Given the description of an element on the screen output the (x, y) to click on. 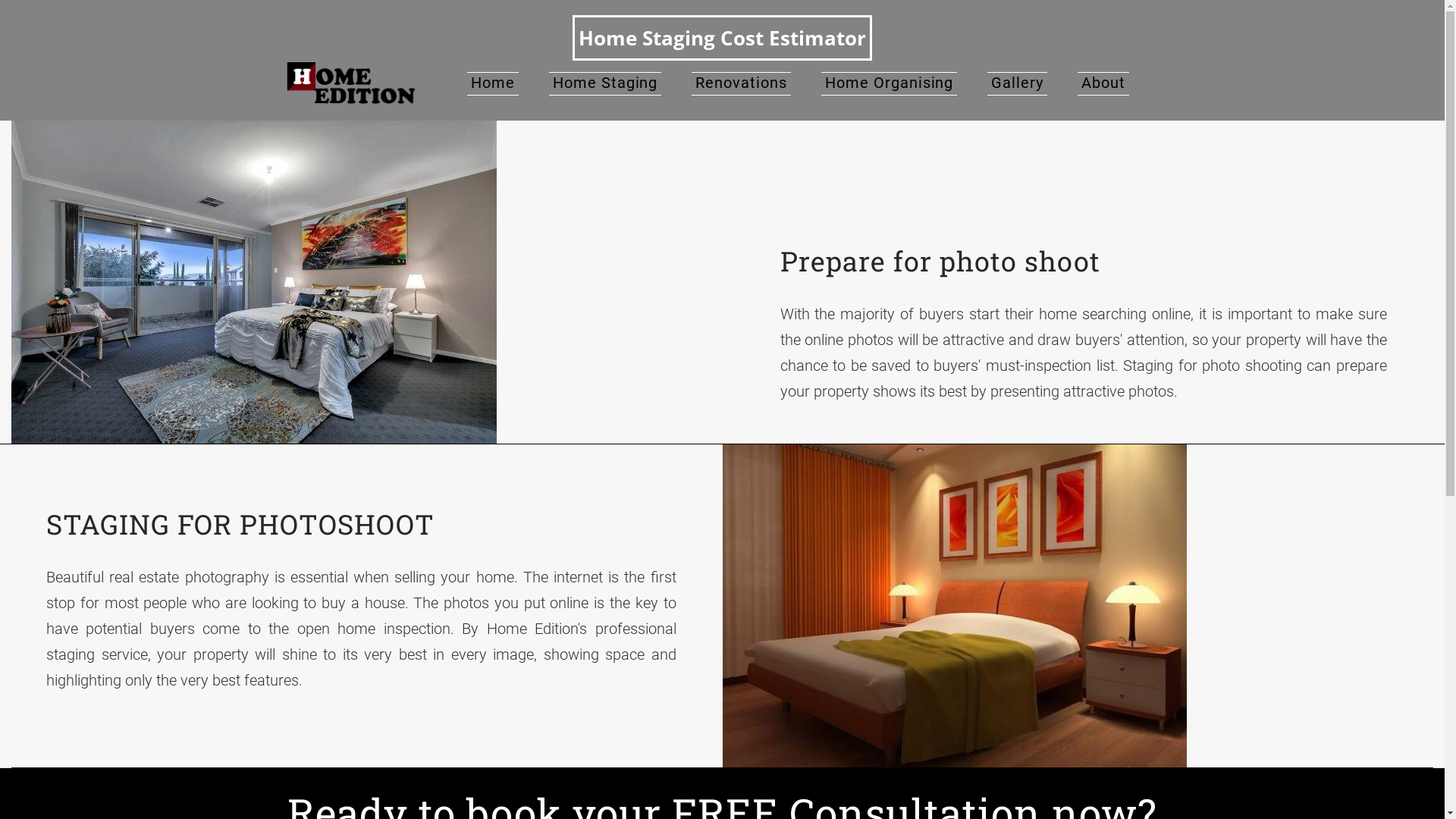
Home Staging Cost Estimator Element type: text (722, 37)
Home Staging Element type: text (605, 82)
Renovations Element type: text (740, 82)
Home Element type: text (492, 82)
S Element type: text (54, 523)
Gallery Element type: text (1017, 82)
About Element type: text (1103, 82)
Home Organising Element type: text (889, 82)
